Given the description of an element on the screen output the (x, y) to click on. 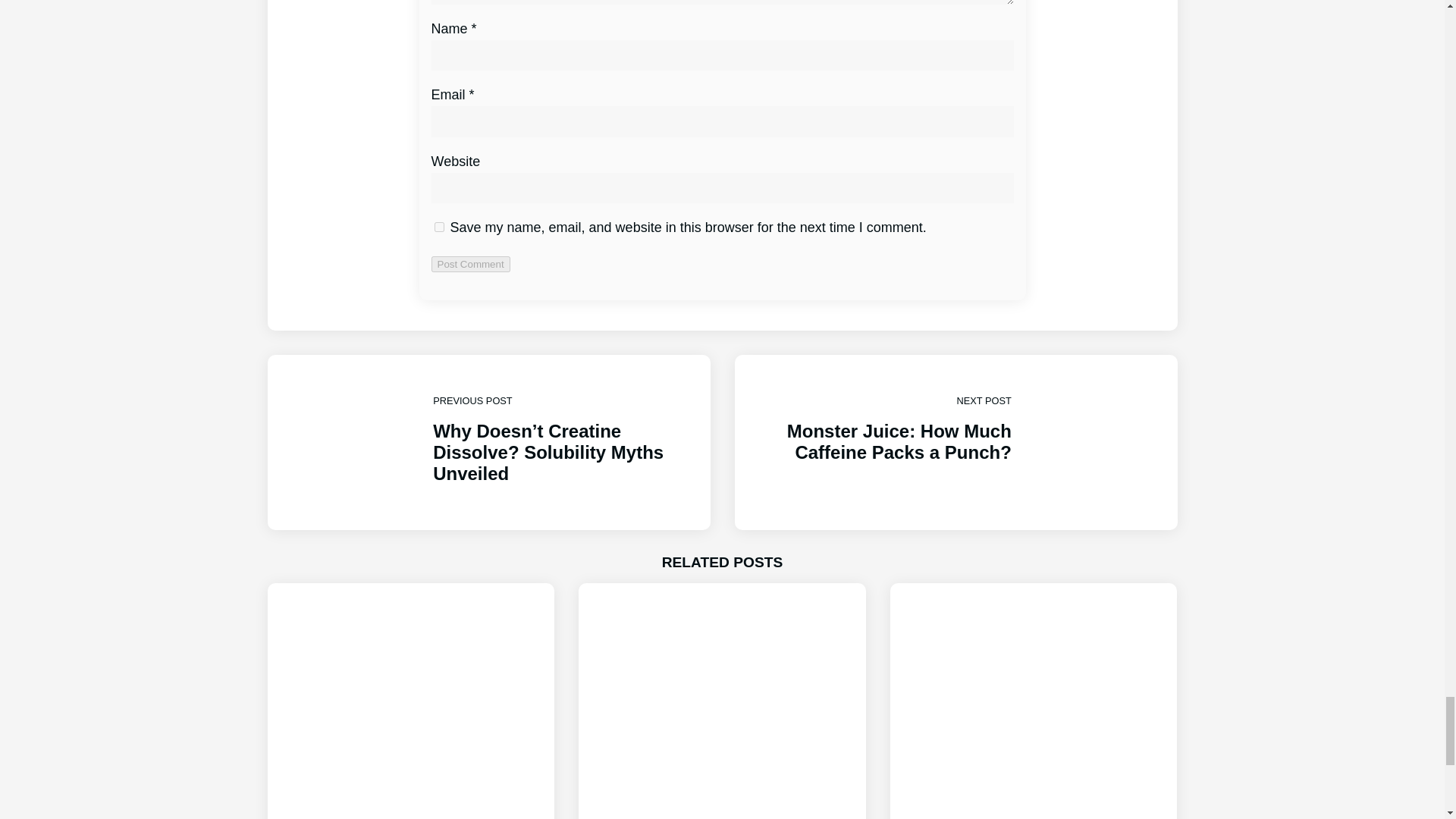
yes (438, 226)
Post Comment (469, 263)
